Given the description of an element on the screen output the (x, y) to click on. 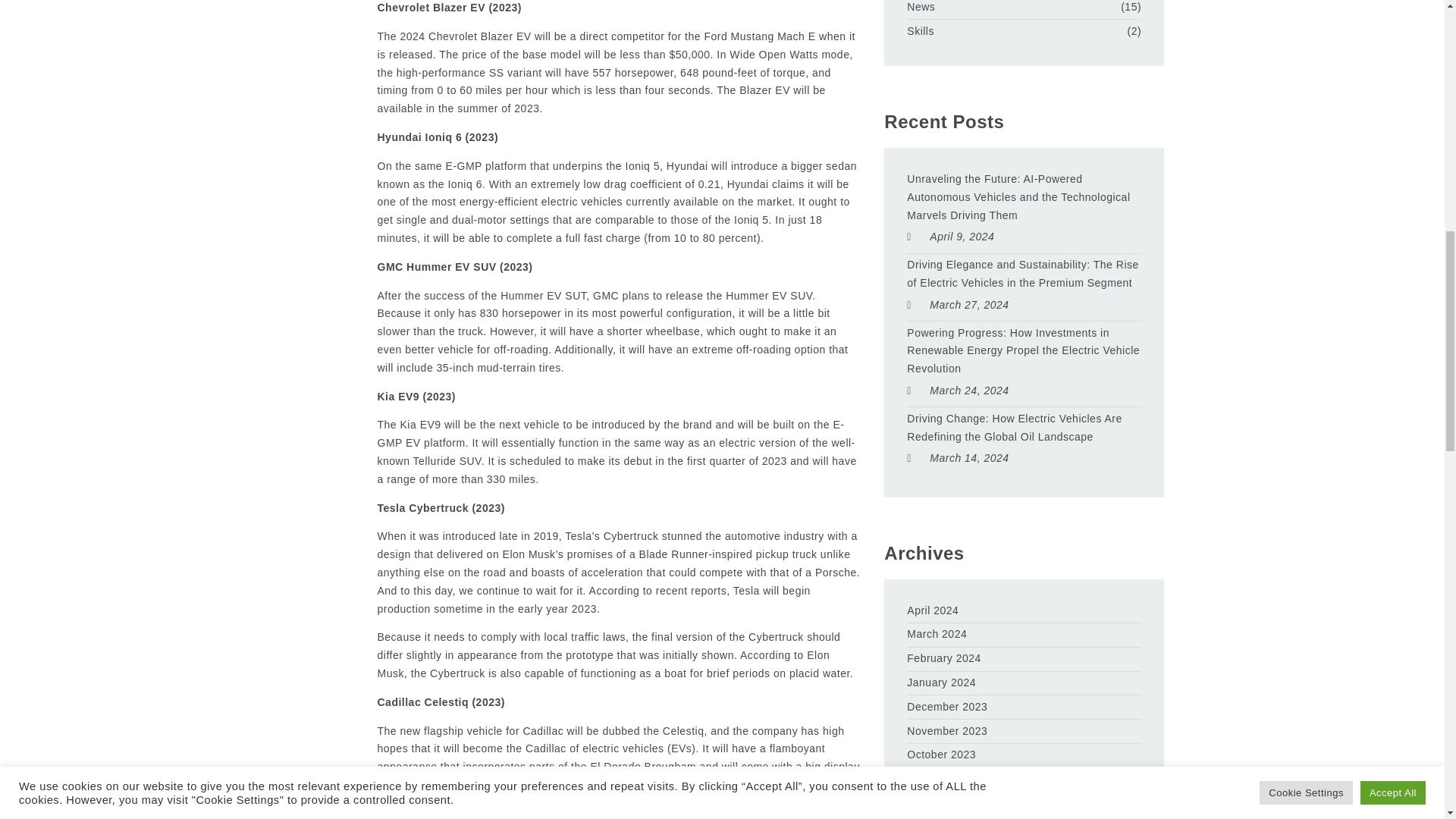
News (920, 8)
Skills (920, 31)
